Given the description of an element on the screen output the (x, y) to click on. 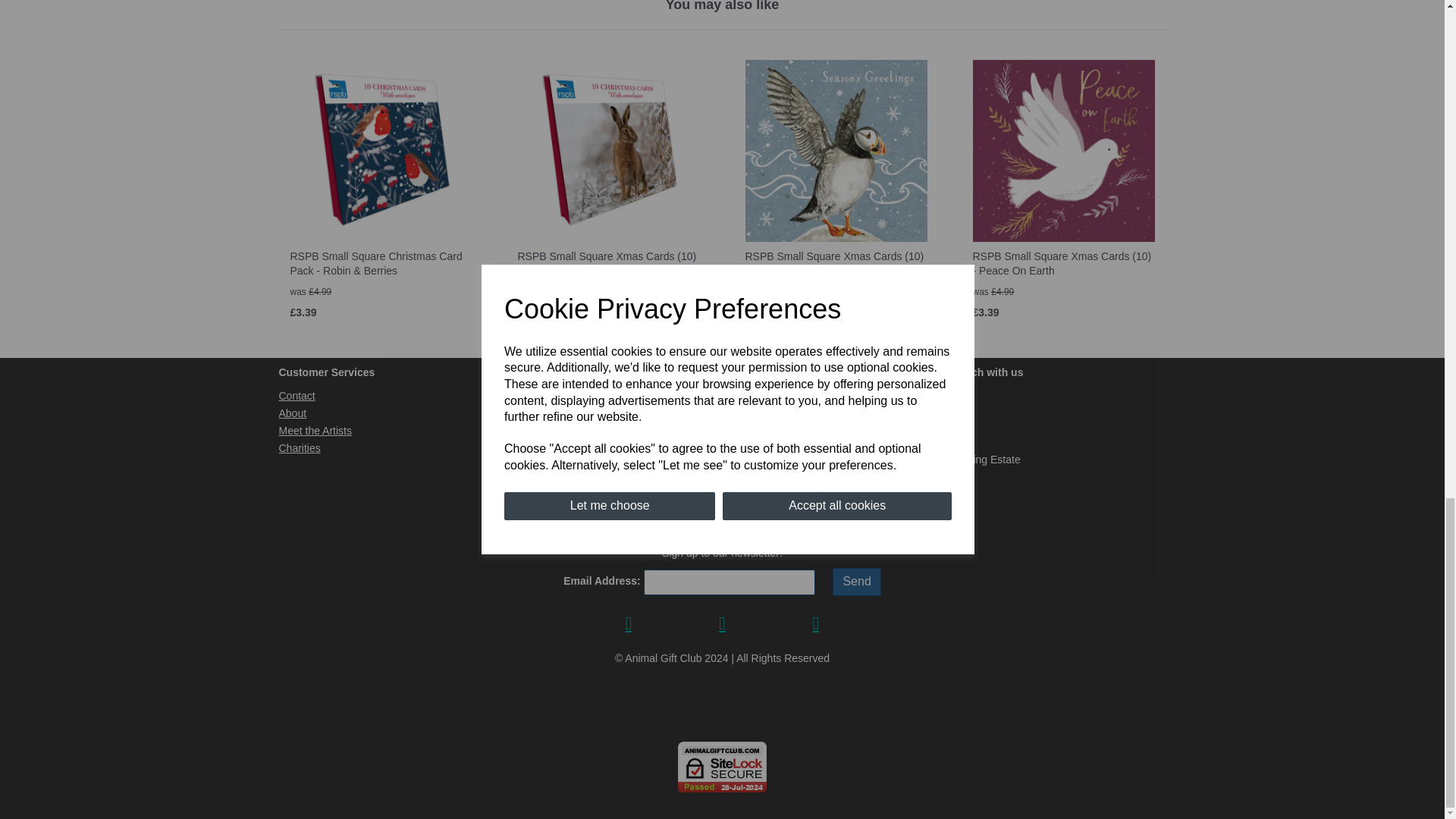
Send (856, 582)
